Given the description of an element on the screen output the (x, y) to click on. 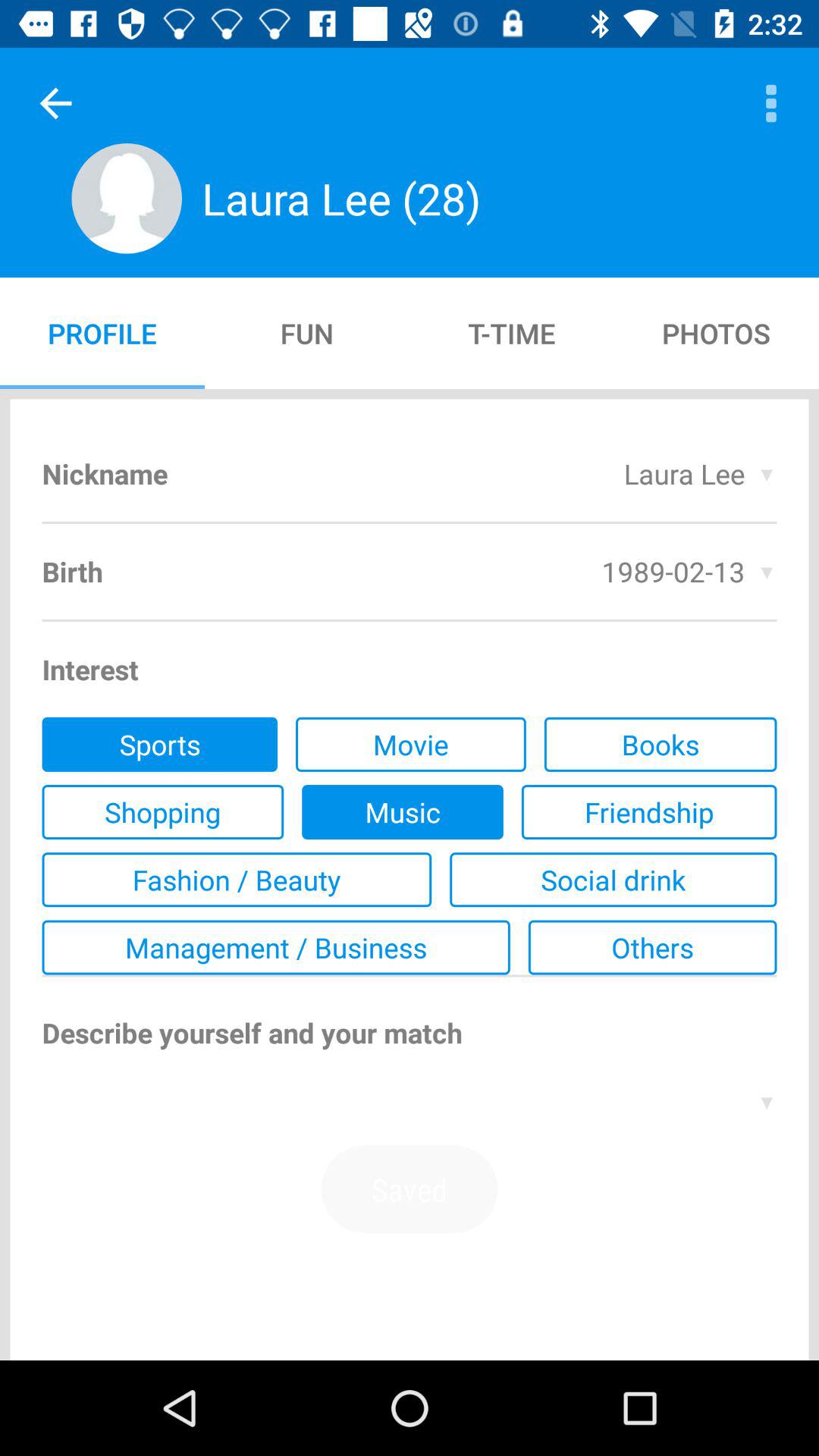
turn on item next to others (276, 947)
